Given the description of an element on the screen output the (x, y) to click on. 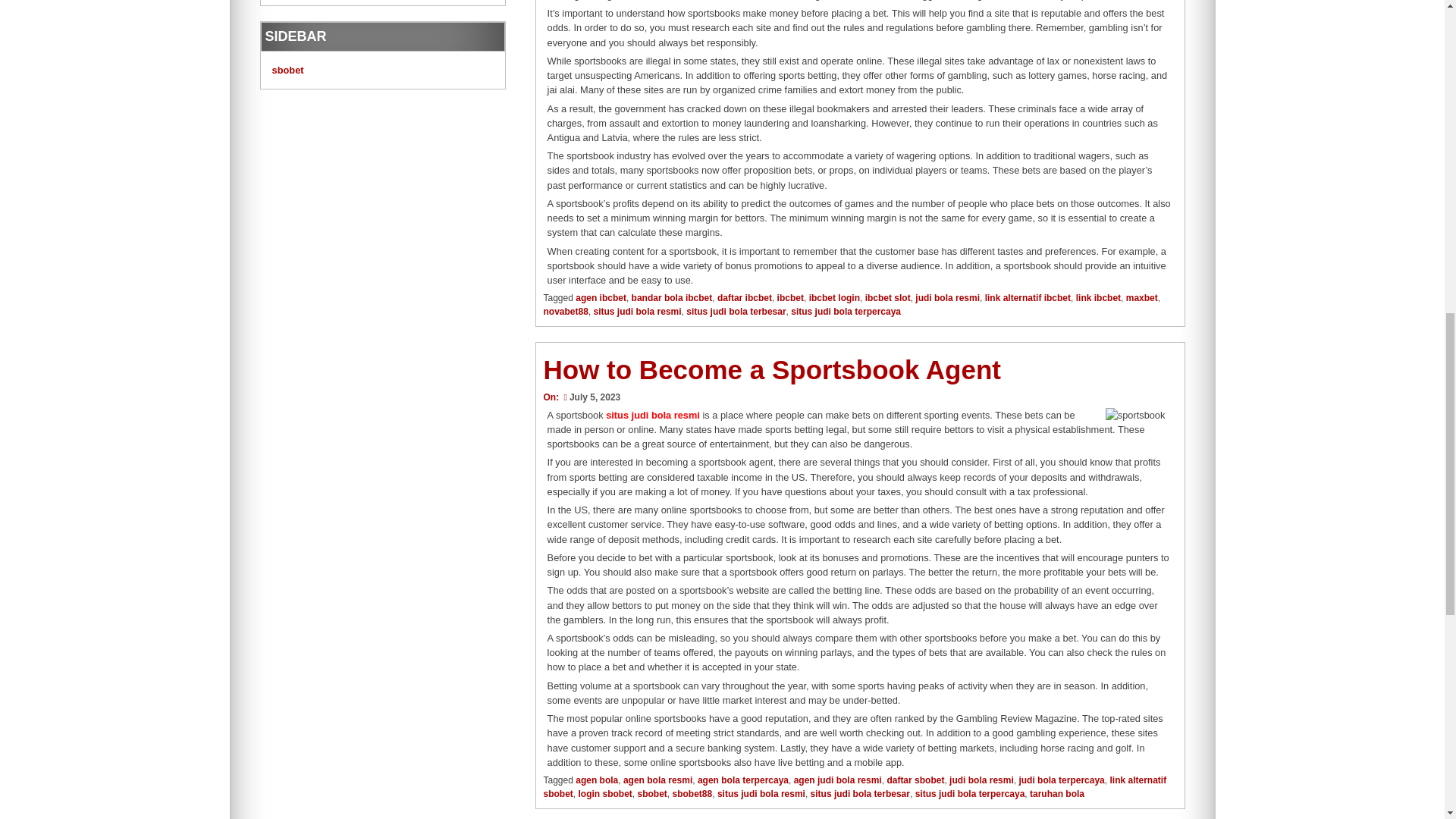
novabet88 (565, 311)
ibcbet slot (887, 297)
link ibcbet (1098, 297)
judi bola resmi (947, 297)
daftar ibcbet (744, 297)
agen ibcbet (600, 297)
ibcbet login (834, 297)
maxbet (1141, 297)
situs judi bola terbesar (735, 311)
ibcbet (790, 297)
bandar bola ibcbet (672, 297)
situs judi bola resmi (637, 311)
situs judi bola terpercaya (845, 311)
link alternatif ibcbet (1027, 297)
